Given the description of an element on the screen output the (x, y) to click on. 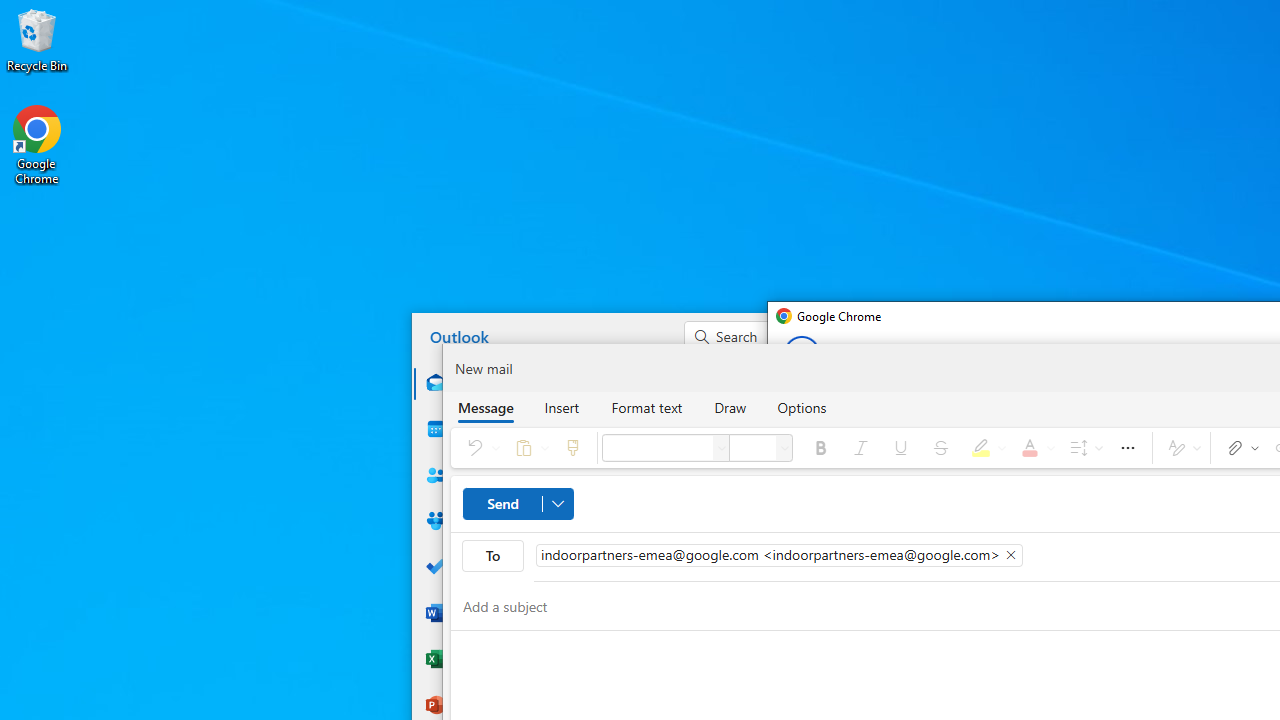
Back from Set up your new Chrome profile page (801, 354)
